Given the description of an element on the screen output the (x, y) to click on. 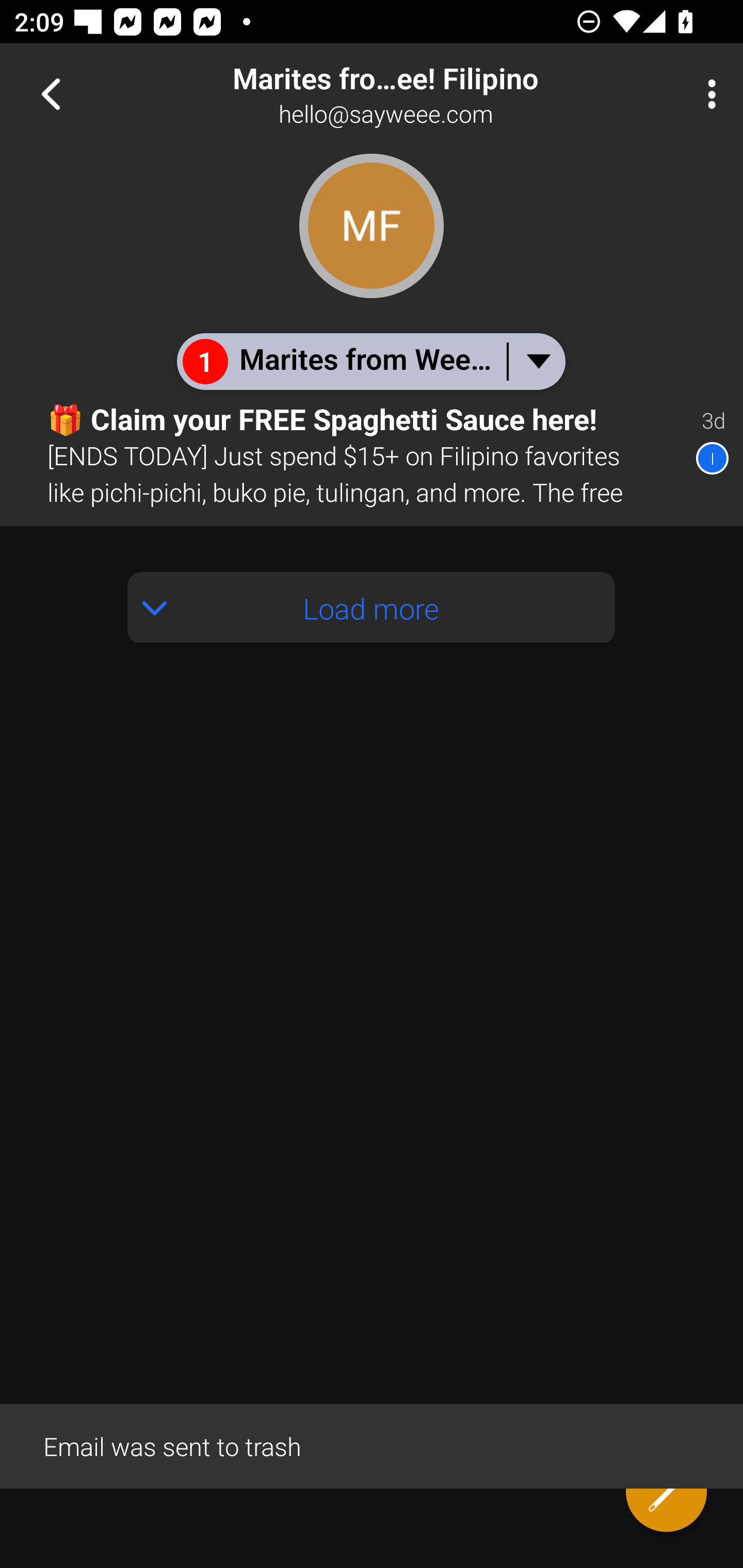
Navigate up (50, 93)
Marites from Weee! Filipino hello@sayweee.com (436, 93)
More Options (706, 93)
1 Marites from Weee! Filipino & You (370, 361)
Load more (371, 607)
Email was sent to trash (371, 1445)
